Given the description of an element on the screen output the (x, y) to click on. 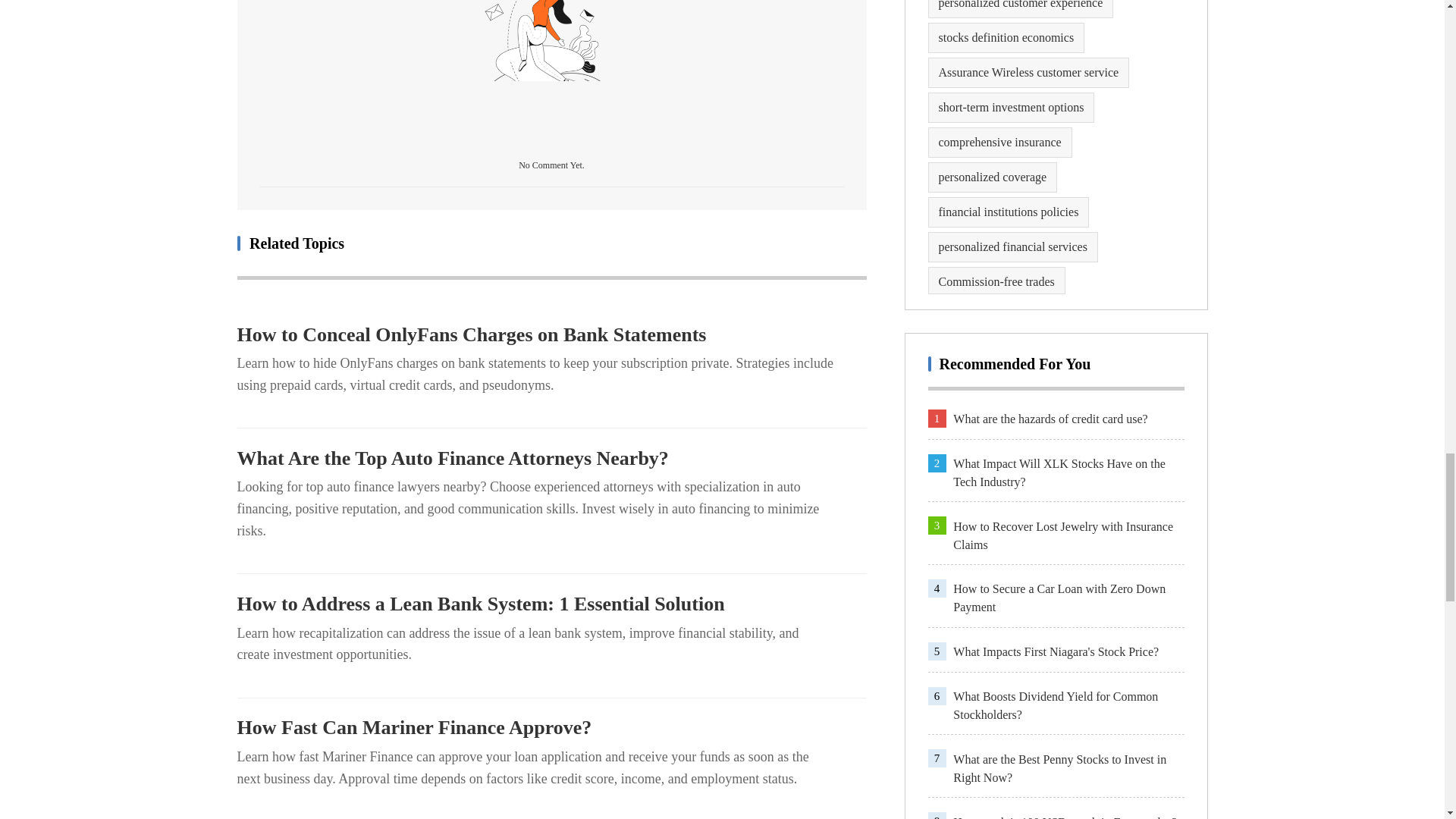
How Fast Can Mariner Finance Approve? (550, 727)
How to Conceal OnlyFans Charges on Bank Statements (550, 334)
How to Address a Lean Bank System: 1 Essential Solution (550, 603)
What Are the Top Auto Finance Attorneys Nearby? (550, 458)
How Fast Can Mariner Finance Approve? (550, 727)
How to Conceal OnlyFans Charges on Bank Statements (550, 334)
How to Address a Lean Bank System: 1 Essential Solution (550, 603)
What Are the Top Auto Finance Attorneys Nearby? (550, 458)
